Given the description of an element on the screen output the (x, y) to click on. 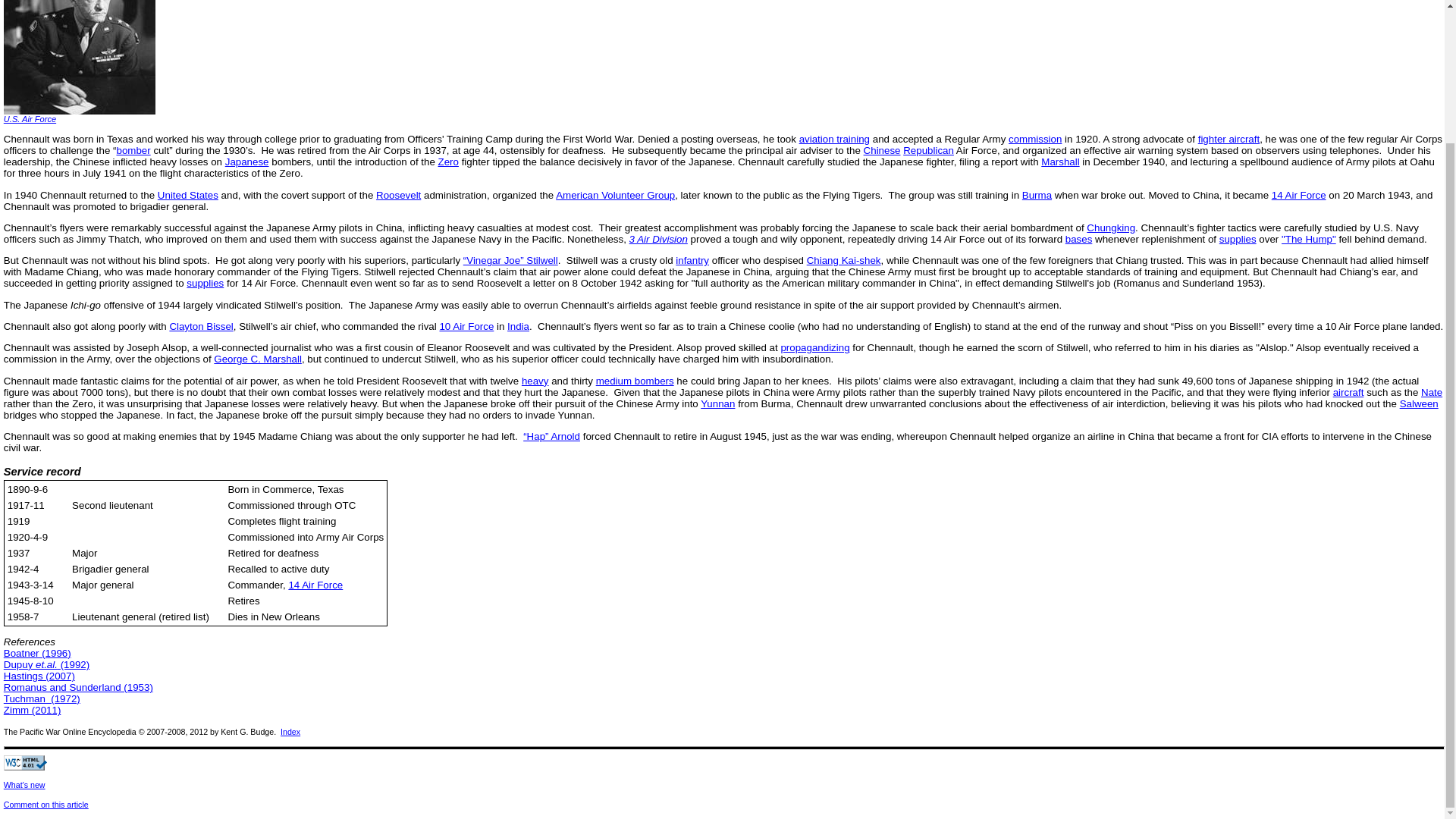
Chinese (882, 150)
Yunnan (717, 403)
aviation training (834, 138)
Roosevelt (397, 194)
fighter aircraft (1228, 138)
14 Air Force (1298, 194)
"The Hump" (1308, 238)
commission (1035, 138)
Zero (448, 161)
Chungking (1110, 227)
Marshall (1059, 161)
Republican (927, 150)
supplies (1238, 238)
aircraft (1348, 392)
Clayton Bissel (200, 326)
